Given the description of an element on the screen output the (x, y) to click on. 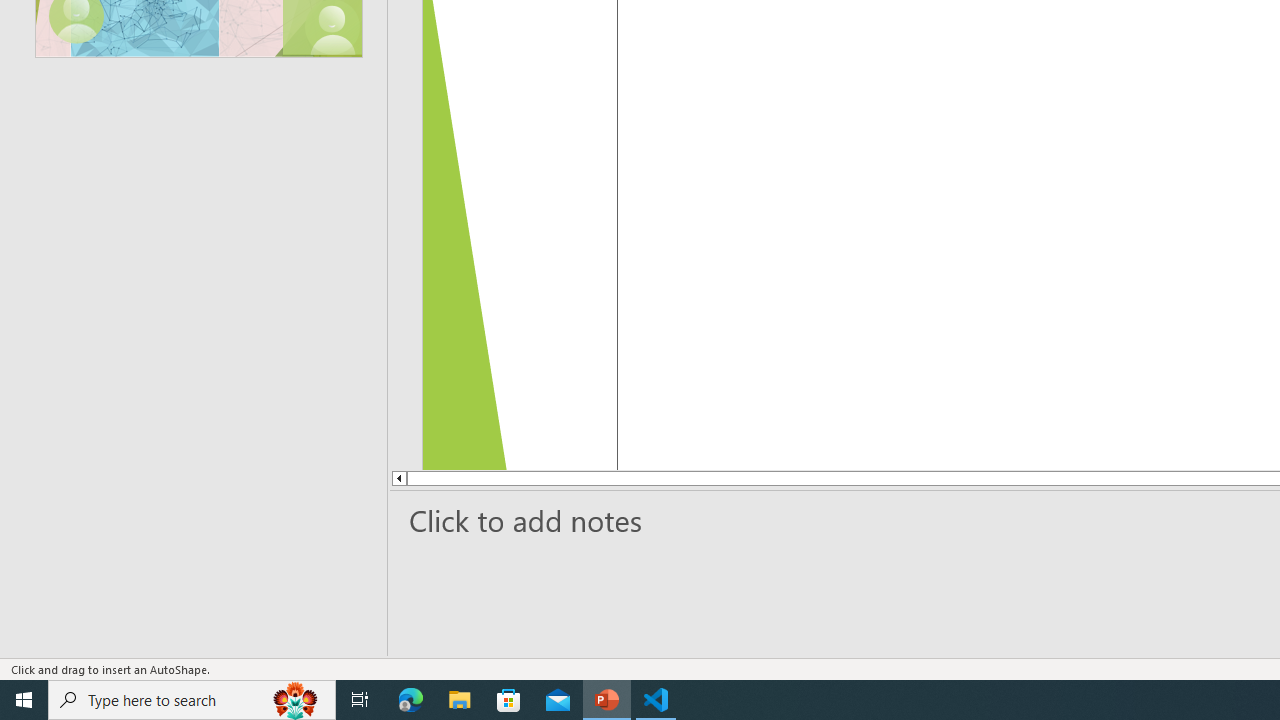
Microsoft Edge (411, 699)
